Given the description of an element on the screen output the (x, y) to click on. 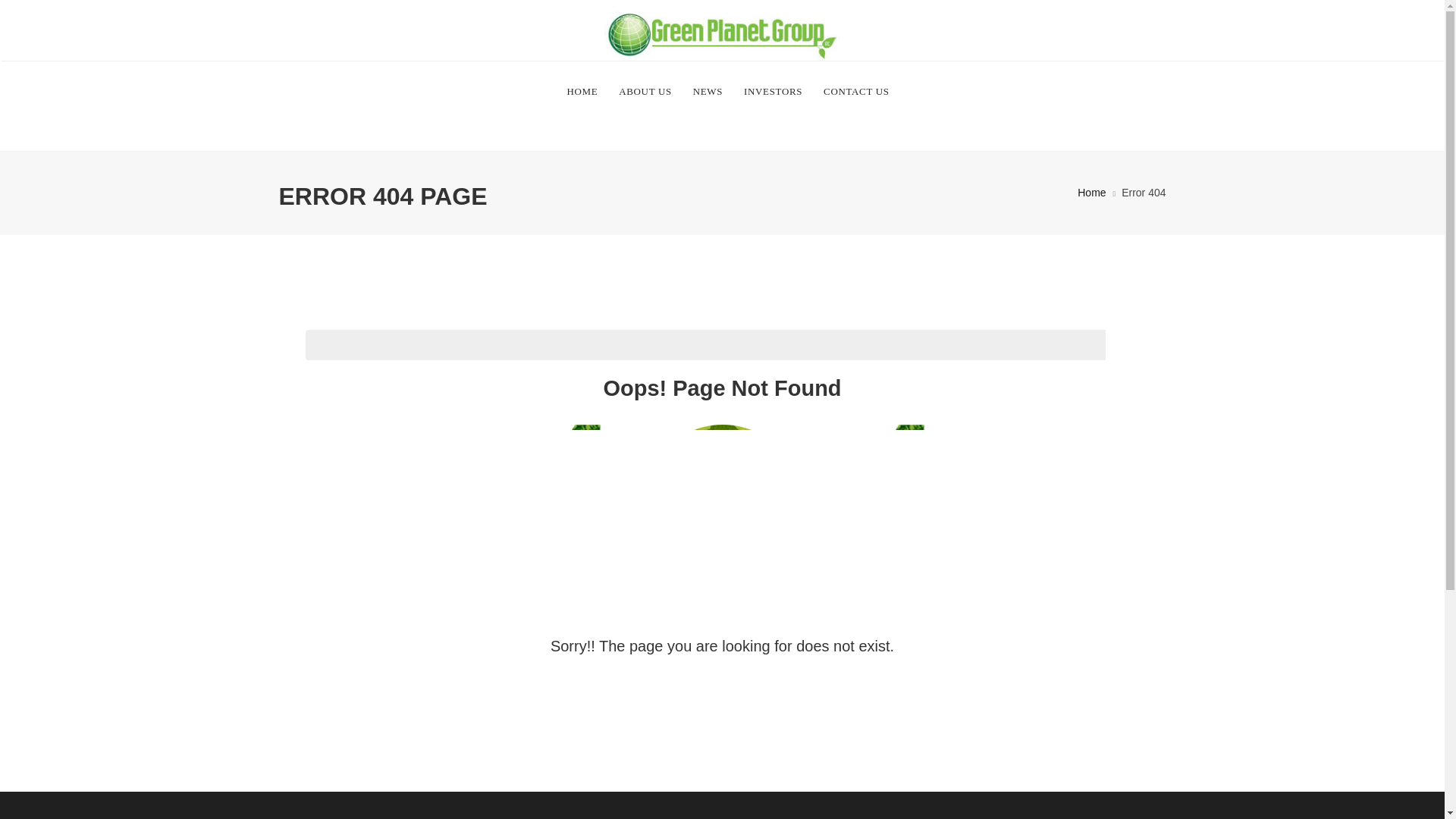
GO TO HOME PAGE (722, 696)
Home (1091, 192)
ABOUT US (645, 91)
CONTACT US (855, 91)
GO (1121, 345)
About Us (645, 91)
Investors (772, 91)
INVESTORS (772, 91)
Contact Us (855, 91)
Green Planet - Welcome to Green Planet! (722, 30)
